Given the description of an element on the screen output the (x, y) to click on. 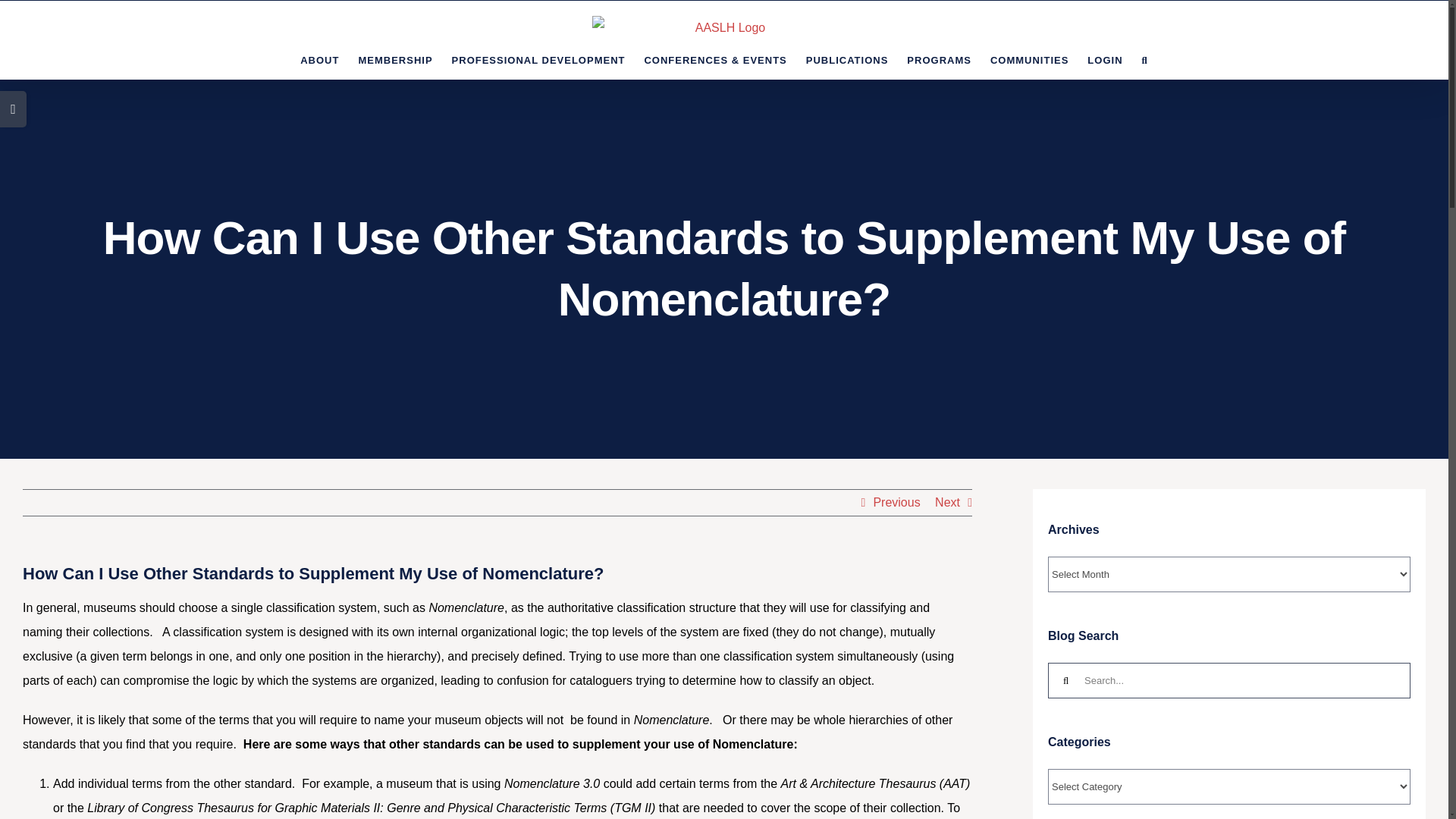
PROFESSIONAL DEVELOPMENT (538, 59)
MEMBERSHIP (395, 59)
PUBLICATIONS (847, 59)
ABOUT (319, 59)
